Given the description of an element on the screen output the (x, y) to click on. 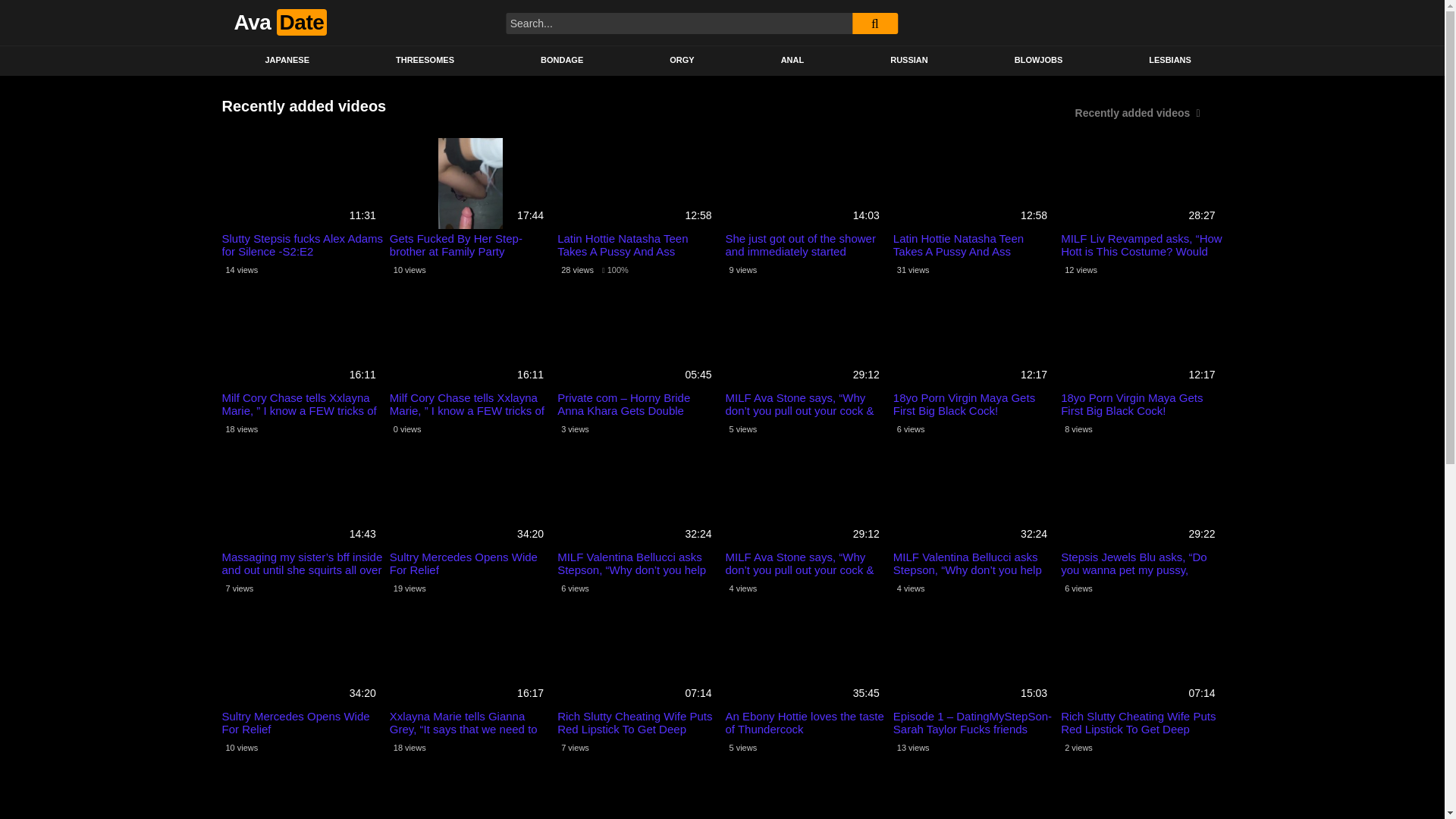
12:17 (973, 342)
ANAL (792, 60)
12:17 (1142, 342)
29:12 (805, 342)
12:58 (638, 183)
Gets Fucked By Her Step-brother at Family Party (470, 244)
16:11 (301, 342)
Japanese (286, 60)
Blowjobs (1038, 60)
12:58 (973, 183)
Avadate (279, 22)
